Given the description of an element on the screen output the (x, y) to click on. 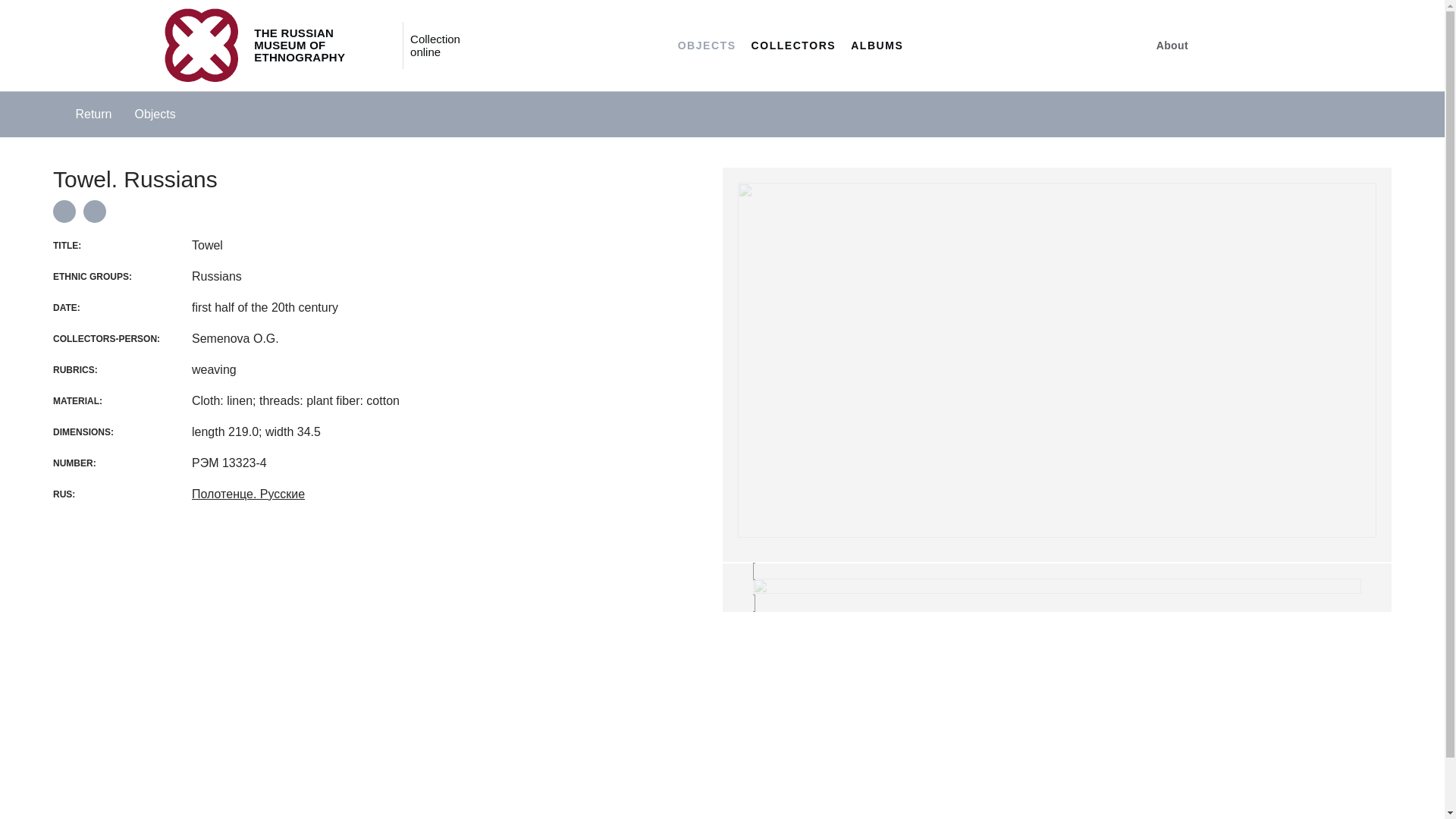
About (1172, 45)
OBJECTS (706, 45)
Return (82, 114)
THE RUSSIAN MUSEUM OF ETHNOGRAPHY (275, 45)
COLLECTORS (794, 45)
ALBUMS (877, 45)
